Given the description of an element on the screen output the (x, y) to click on. 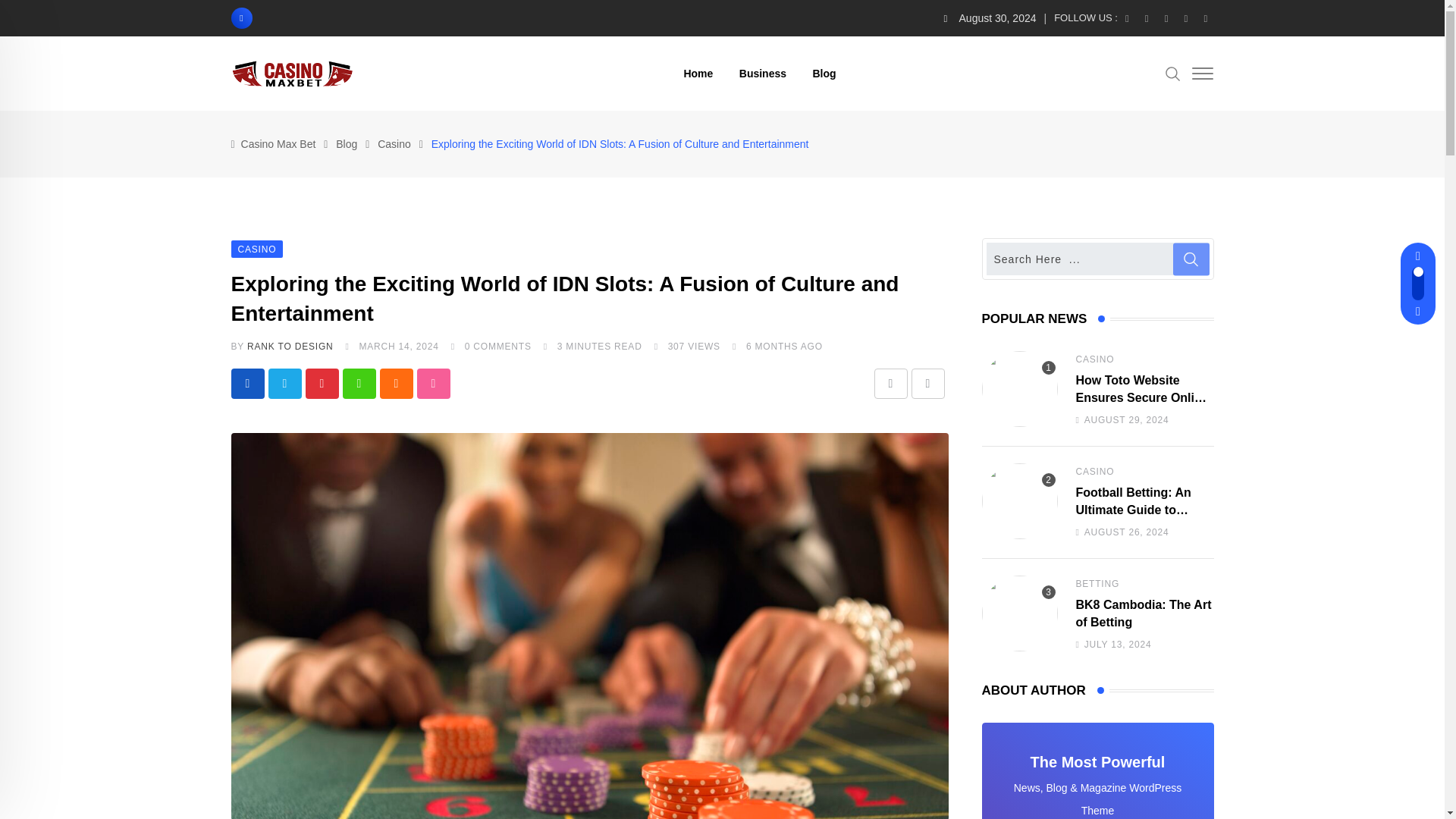
Posts by Rank To Design (290, 346)
How Toto Website Ensures Secure Online Betting Experiences (1019, 388)
Search (1173, 72)
BK8 Cambodia: The Art of Betting (1019, 613)
Go to the Casino category archives. (393, 143)
How Toto Website Ensures Secure Online Betting Experiences (1019, 510)
Go to Casino Max Bet. (278, 143)
Business (762, 73)
Football Betting: An Ultimate Guide to Winning Big (1019, 609)
Go to Blog. (346, 143)
